Given the description of an element on the screen output the (x, y) to click on. 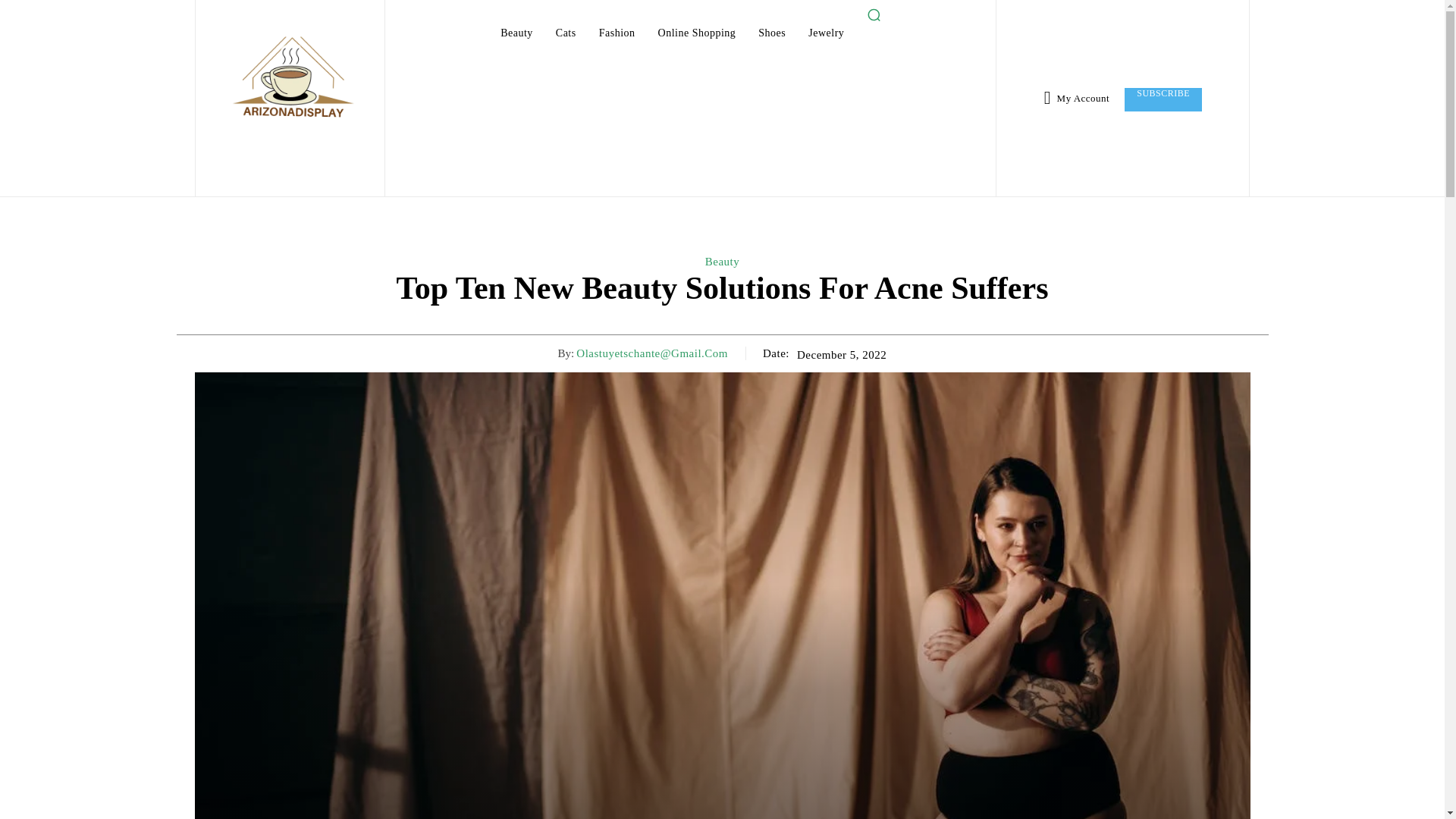
Online Shopping (697, 33)
Subscribe (1163, 99)
SUBSCRIBE (1163, 99)
Beauty (721, 261)
